Given the description of an element on the screen output the (x, y) to click on. 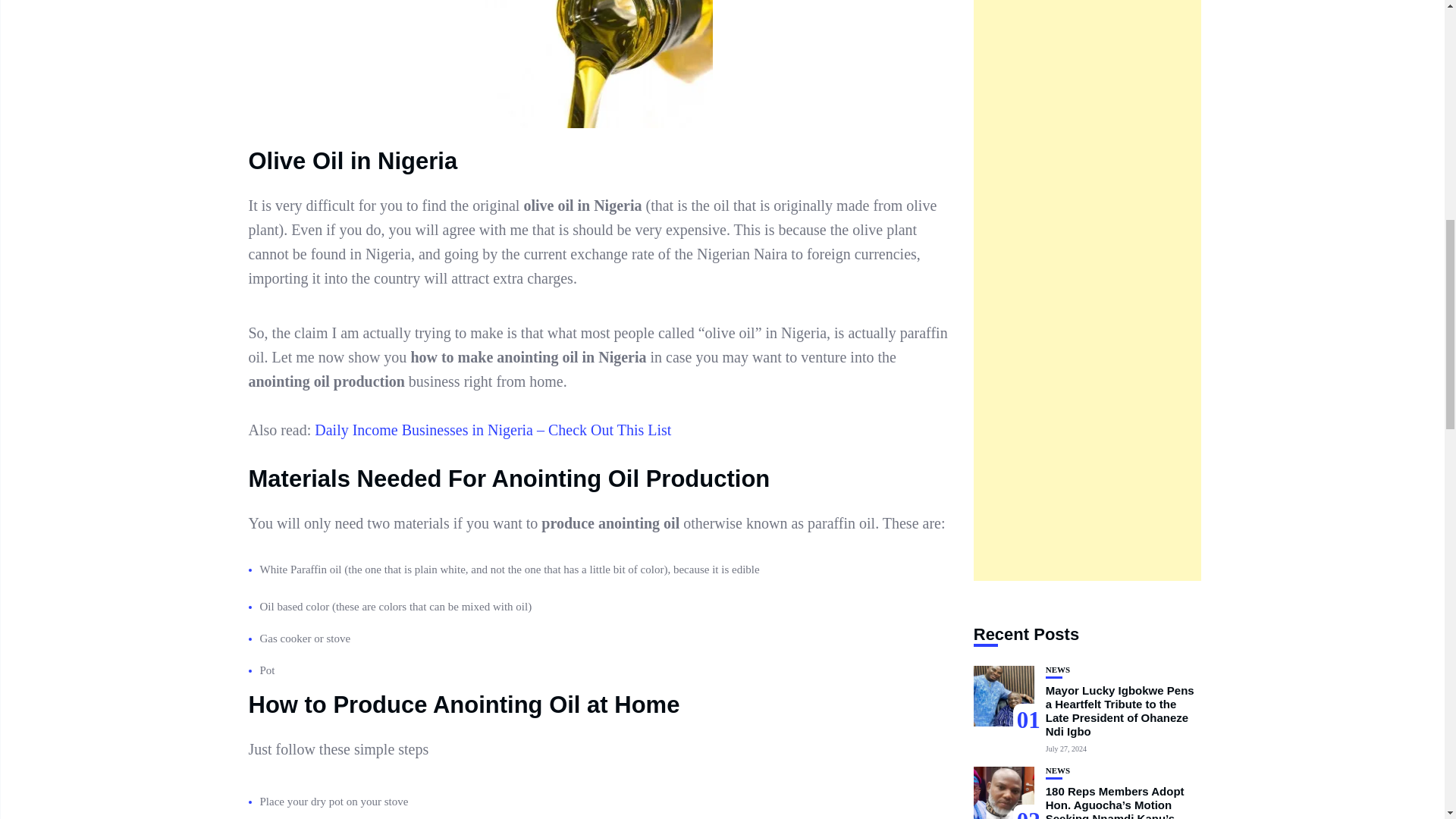
Advertisement (1087, 290)
